Given the description of an element on the screen output the (x, y) to click on. 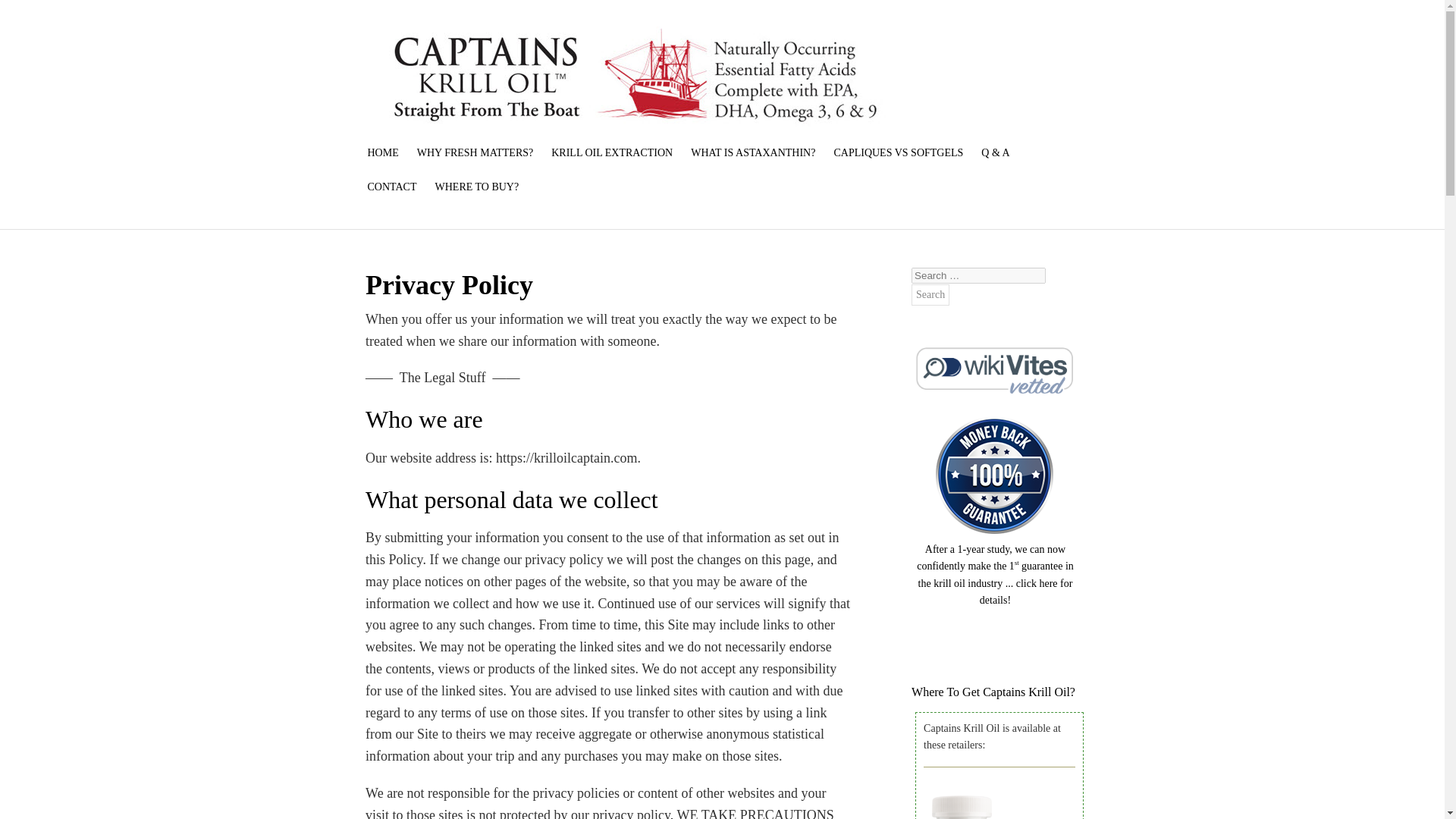
CONTACT (391, 186)
Search (930, 294)
KRILL OIL EXTRACTION (611, 153)
WHERE TO BUY? (472, 186)
WHAT IS ASTAXANTHIN? (752, 153)
CAPLIQUES VS SOFTGELS (898, 153)
WHY FRESH MATTERS? (475, 153)
Search (930, 294)
Search (930, 294)
HOME (382, 153)
